Given the description of an element on the screen output the (x, y) to click on. 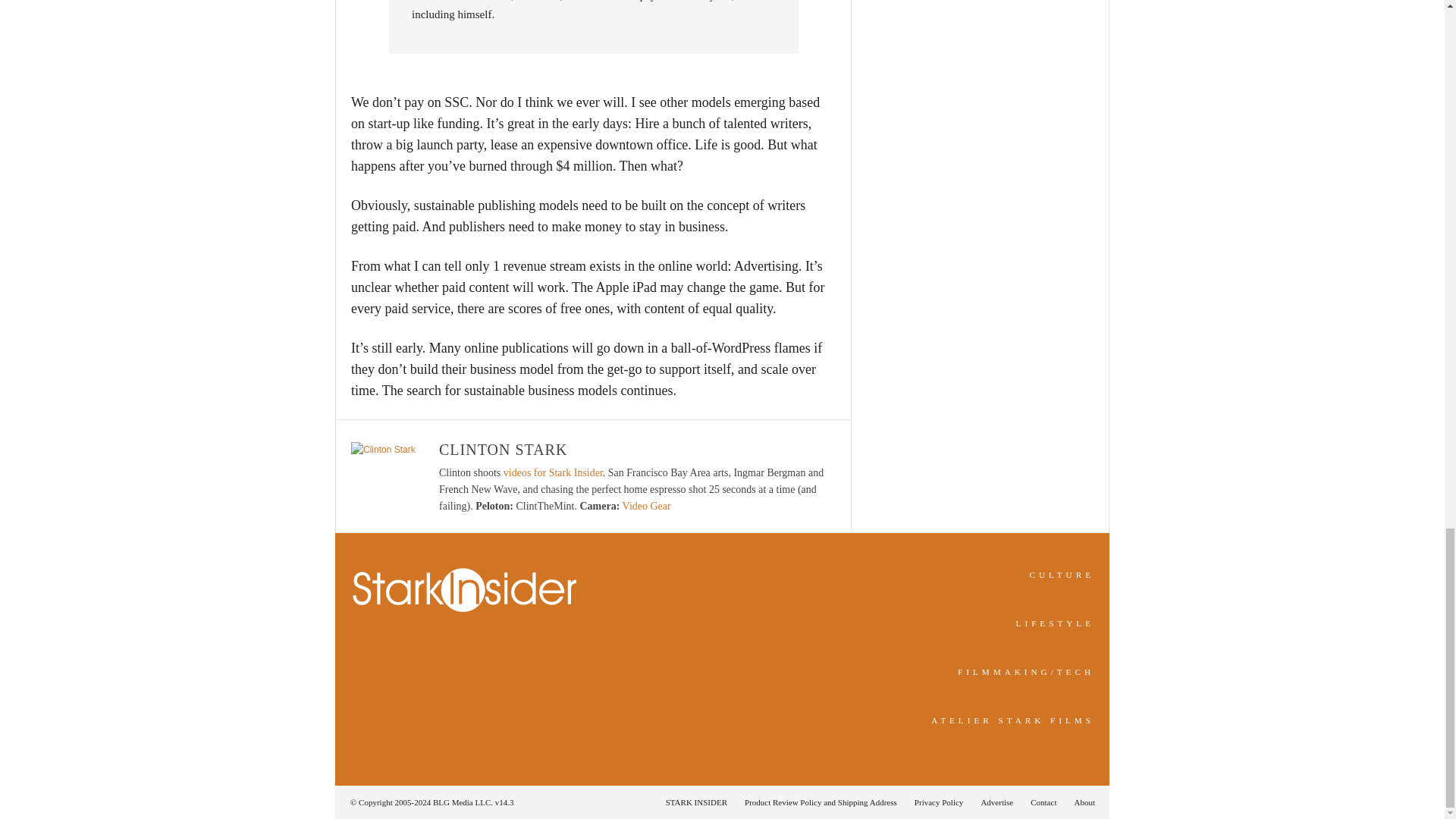
Privacy Policy (939, 801)
STARK INSIDER (696, 801)
CULTURE (1061, 574)
About (1079, 801)
LIFESTYLE (1055, 623)
CLINTON STARK (503, 449)
Advertise (996, 801)
Video Gear (647, 505)
Contact (1043, 801)
Product Review Policy and Shipping Address (820, 801)
